Given the description of an element on the screen output the (x, y) to click on. 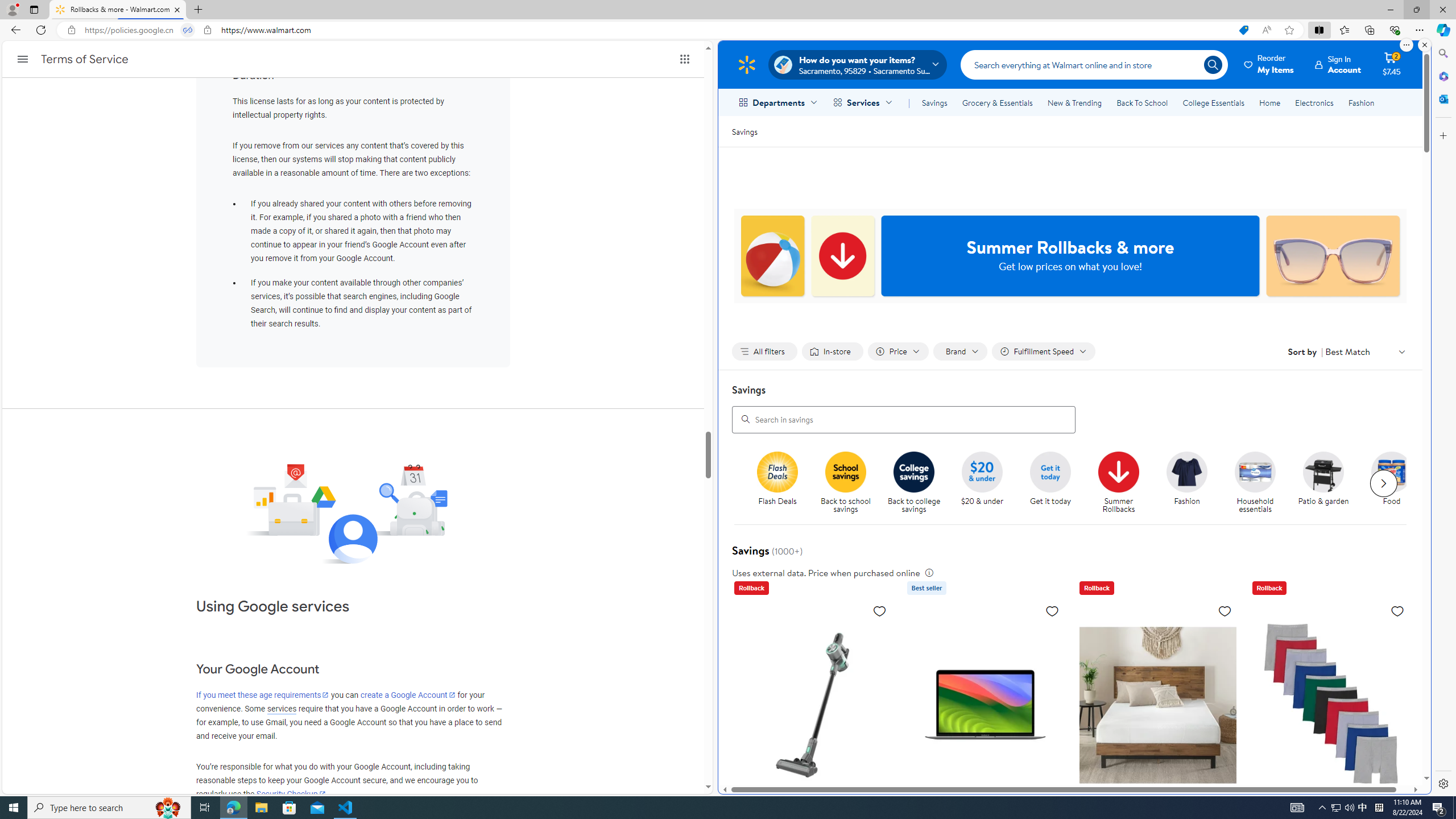
Back to College savings Back to college savings (913, 483)
Savings (933, 102)
New & Trending (1075, 102)
Electronics (1314, 102)
Food (1391, 471)
ReorderMy Items (1269, 64)
Back to college savings (917, 483)
College Essentials (1213, 102)
Household essentials (1254, 471)
Patio & garden Patio & garden (1323, 478)
Back to School savings Back to school savings (845, 483)
